Given the description of an element on the screen output the (x, y) to click on. 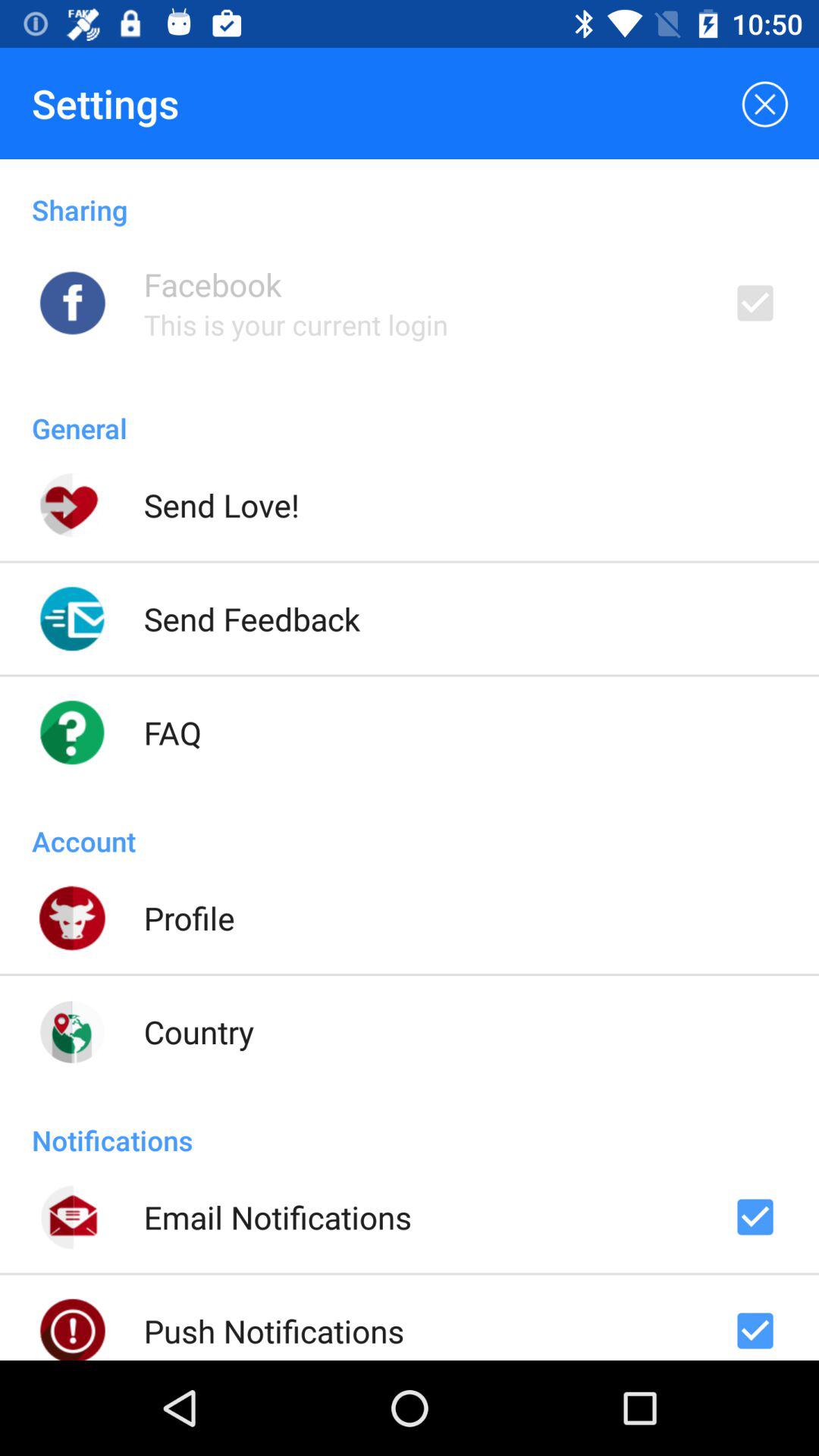
scroll until account (409, 824)
